Given the description of an element on the screen output the (x, y) to click on. 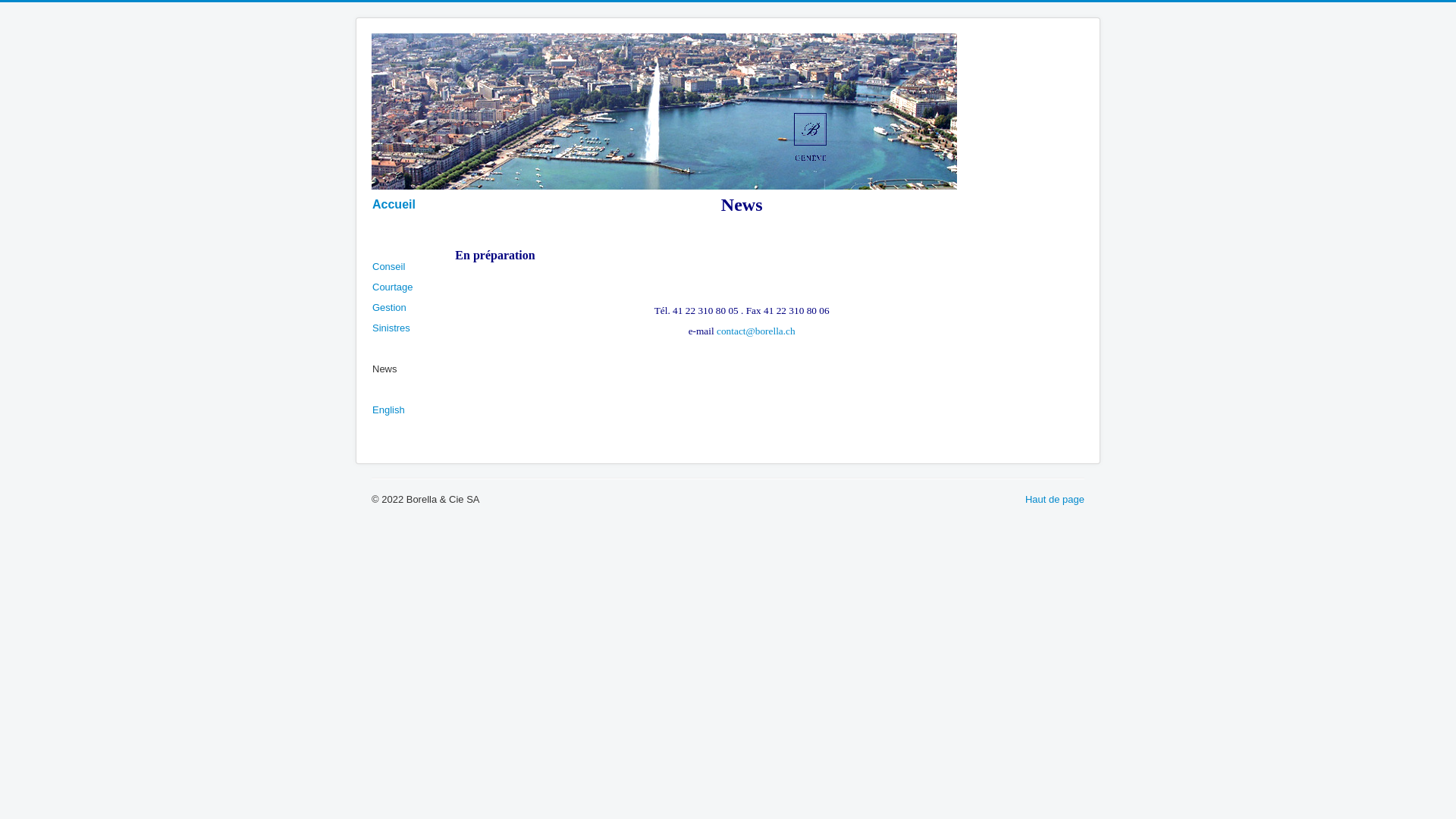
Haut de page Element type: text (1054, 499)
Conseil Element type: text (388, 266)
Gestion Element type: text (389, 307)
Sinistres Element type: text (391, 327)
Accueil Element type: text (393, 203)
English Element type: text (388, 409)
Courtage Element type: text (392, 286)
contact@borella.ch Element type: text (755, 330)
